Given the description of an element on the screen output the (x, y) to click on. 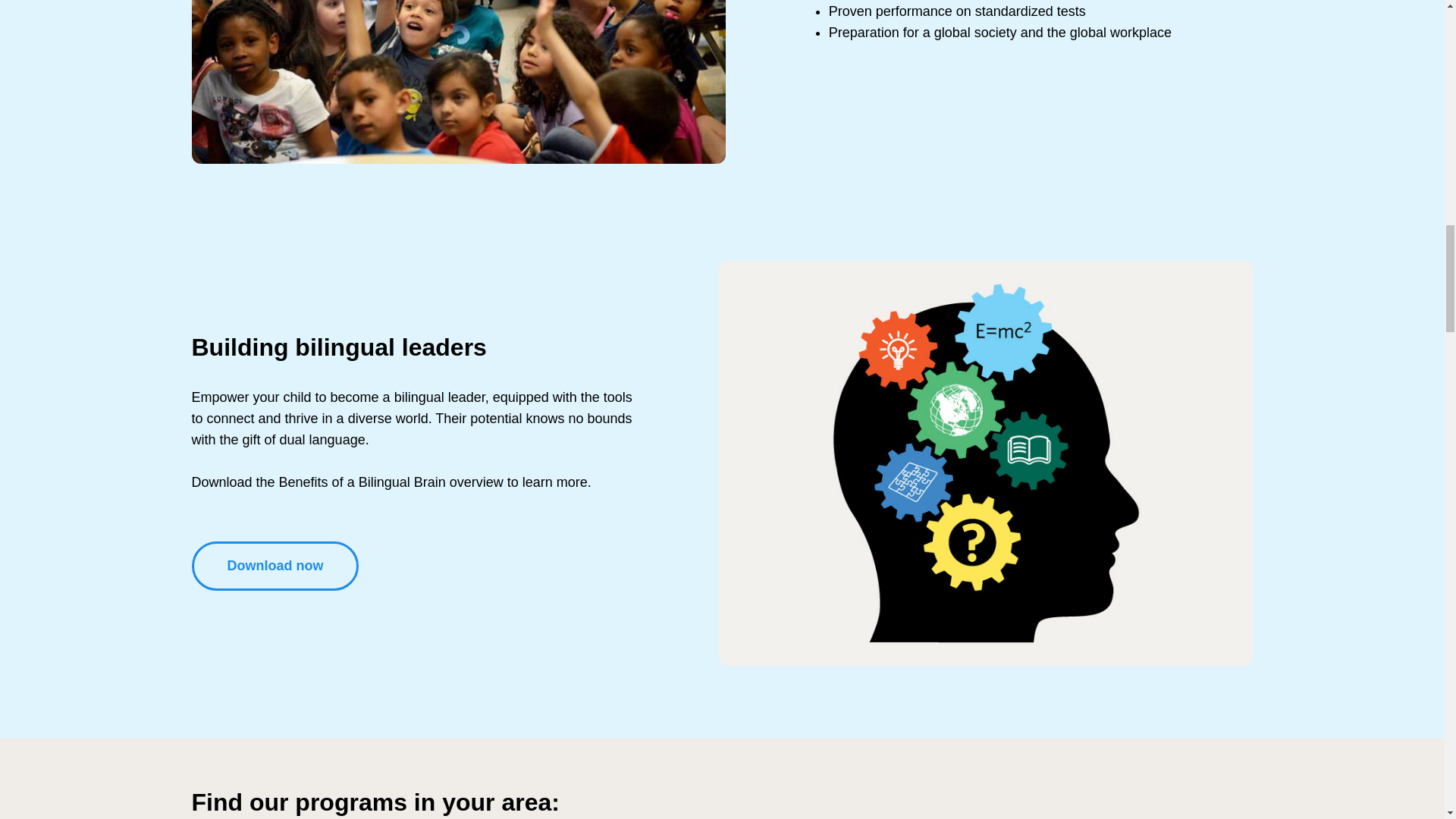
Download now (274, 565)
